Given the description of an element on the screen output the (x, y) to click on. 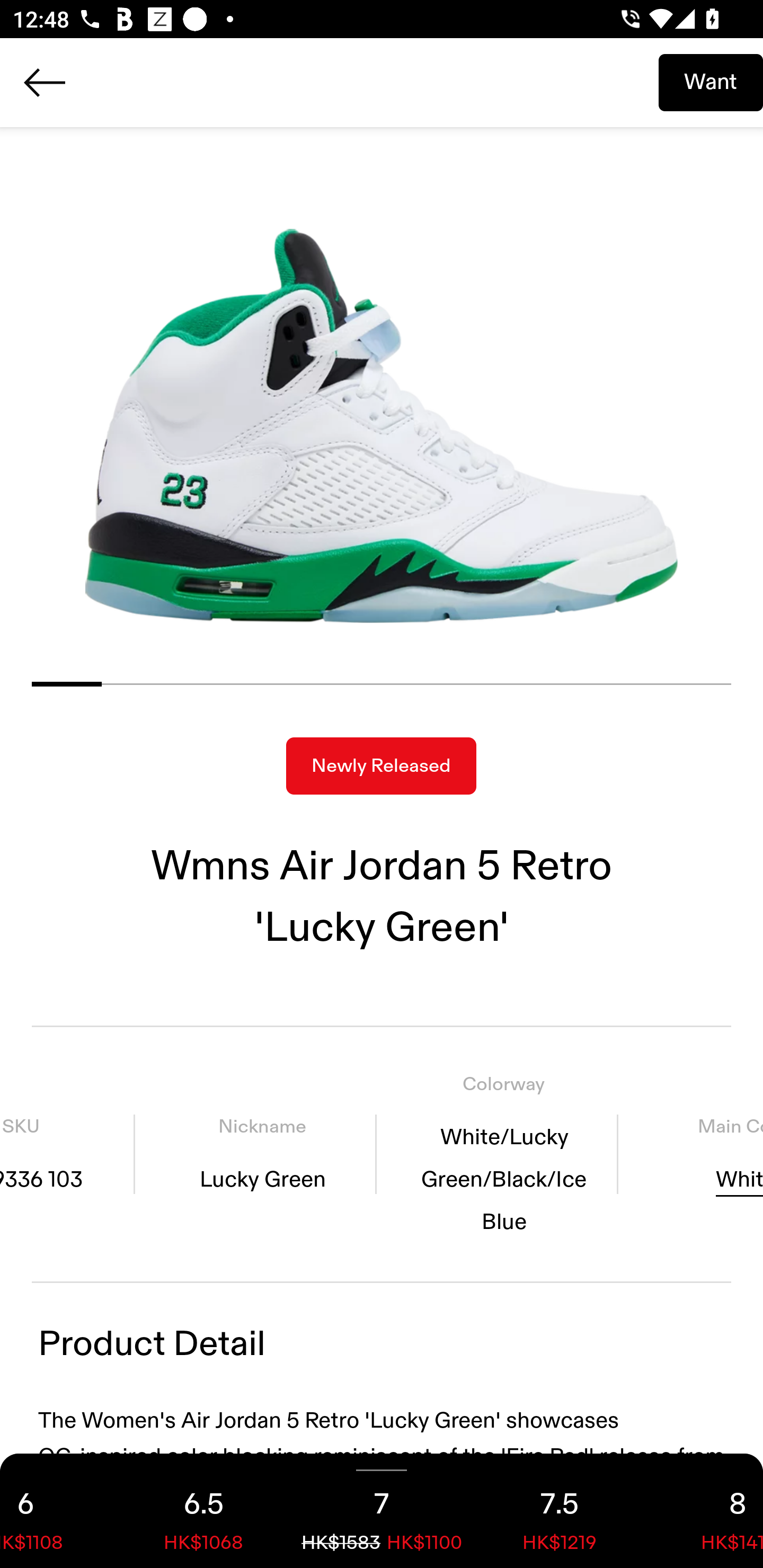
Want (710, 82)
Newly Released (381, 765)
Nickname Lucky Green (262, 1153)
Colorway White/Lucky Green/Black/Ice Blue (503, 1153)
6 HK$1108 (57, 1510)
6.5 HK$1068 (203, 1510)
7 HK$1583 HK$1100 (381, 1510)
7.5 HK$1219 (559, 1510)
8 HK$1417 (705, 1510)
